Given the description of an element on the screen output the (x, y) to click on. 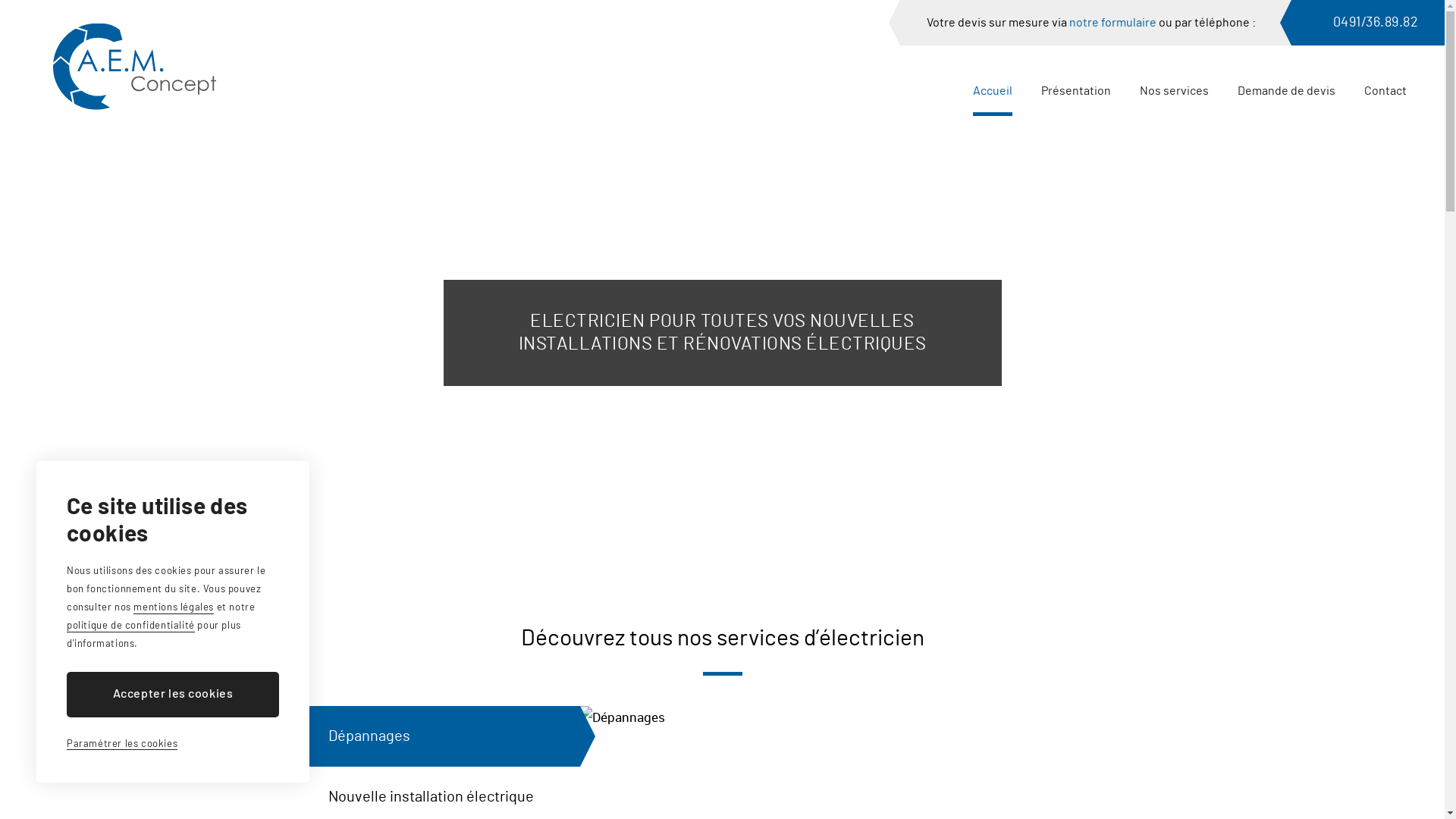
notre formulaire Element type: text (1112, 22)
Demande de devis Element type: text (1286, 90)
AEM Concept Element type: hover (134, 66)
Contact Element type: text (1385, 90)
Nos services Element type: text (1173, 90)
0491/36.89.82 Element type: text (1367, 22)
Accueil Element type: text (992, 90)
